Given the description of an element on the screen output the (x, y) to click on. 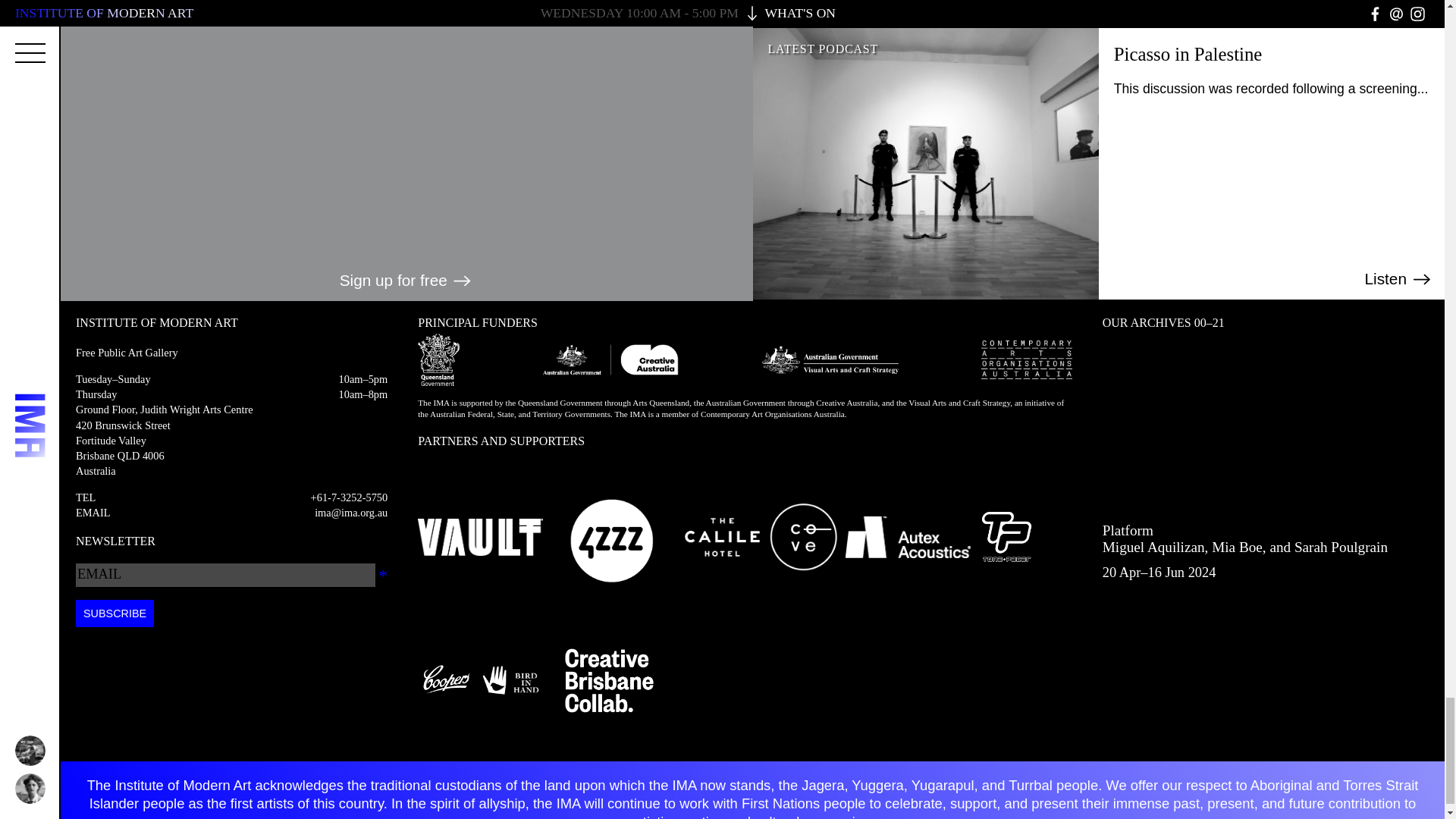
Discussion: Picasso In Palestine (1399, 279)
Byca Ceramics: Gallery Shop pop-up (1385, 7)
Subscribe (114, 613)
Sign up for free (406, 280)
Discussion: Picasso In Palestine (1187, 54)
